Given the description of an element on the screen output the (x, y) to click on. 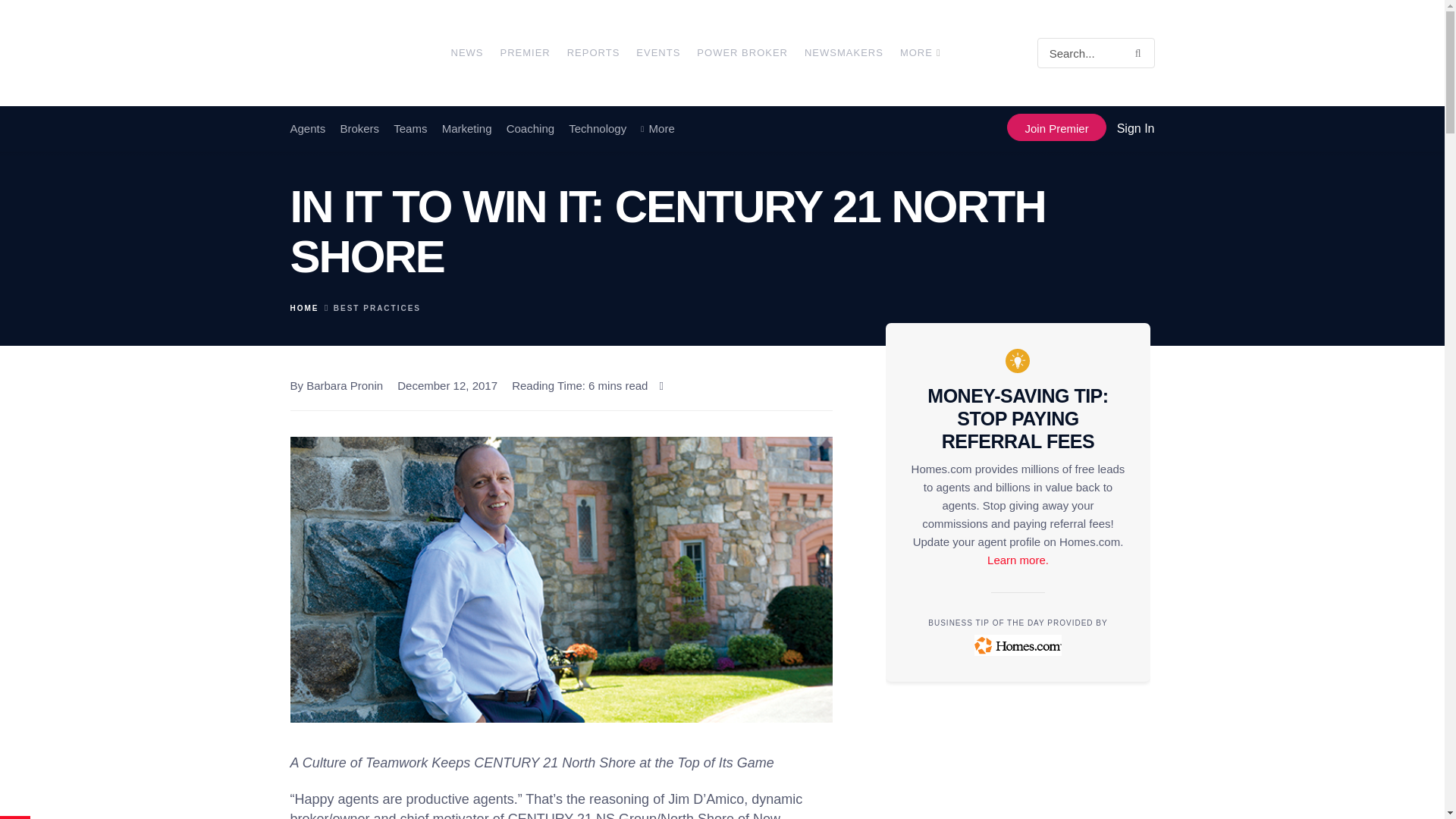
Sign In (1135, 128)
Technology (597, 128)
3rd party ad content (1017, 776)
MORE (919, 53)
PREMIER (525, 53)
Coaching (530, 128)
Marketing (467, 128)
Join Premier (1056, 126)
NEWSMAKERS (844, 53)
REPORTS (593, 53)
POWER BROKER (742, 53)
EVENTS (657, 53)
